Given the description of an element on the screen output the (x, y) to click on. 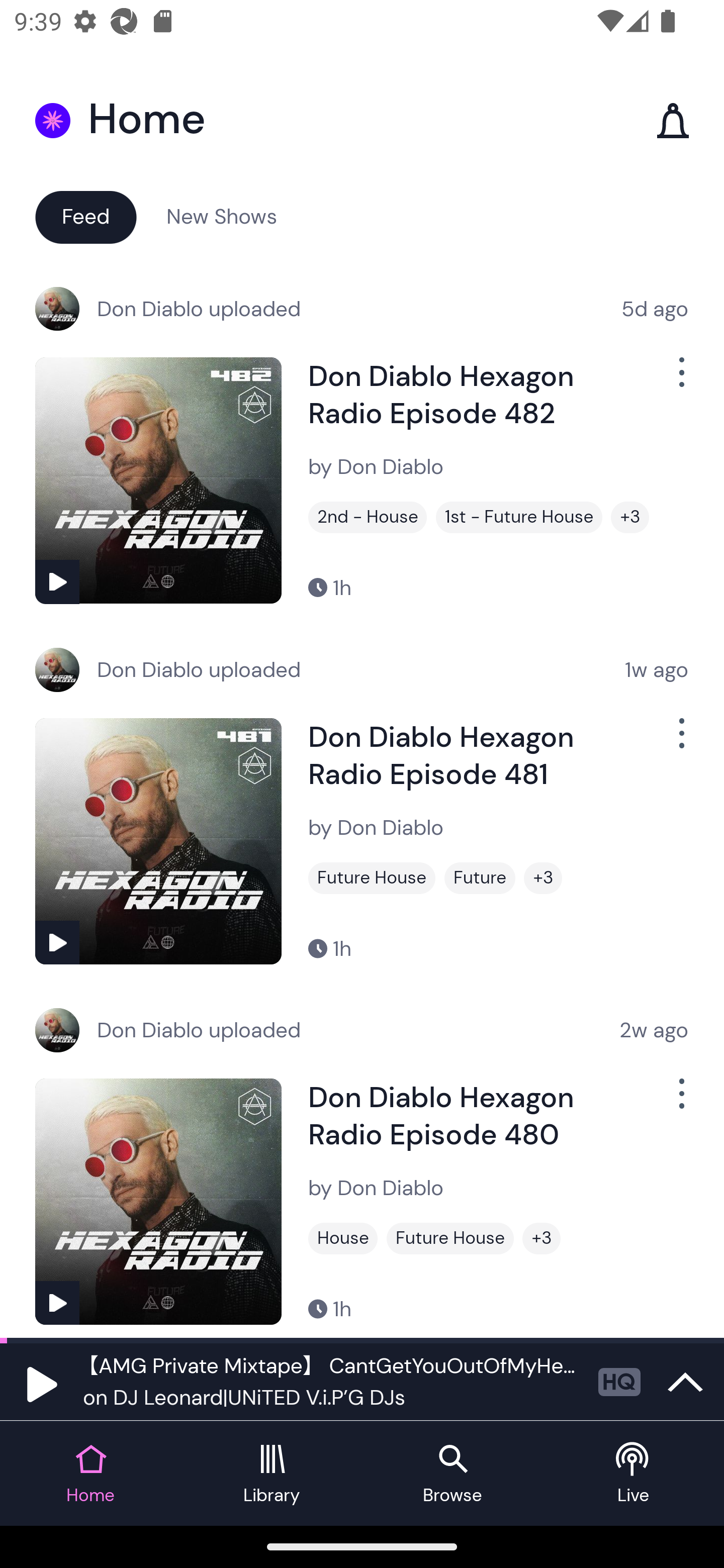
Feed (85, 216)
New Shows (221, 216)
Show Options Menu Button (679, 379)
2nd - House (367, 517)
1st - Future House (518, 517)
Show Options Menu Button (679, 740)
Future House (371, 877)
Future (479, 877)
Show Options Menu Button (679, 1101)
House (342, 1238)
Future House (450, 1238)
Home tab Home (90, 1473)
Library tab Library (271, 1473)
Browse tab Browse (452, 1473)
Live tab Live (633, 1473)
